Given the description of an element on the screen output the (x, y) to click on. 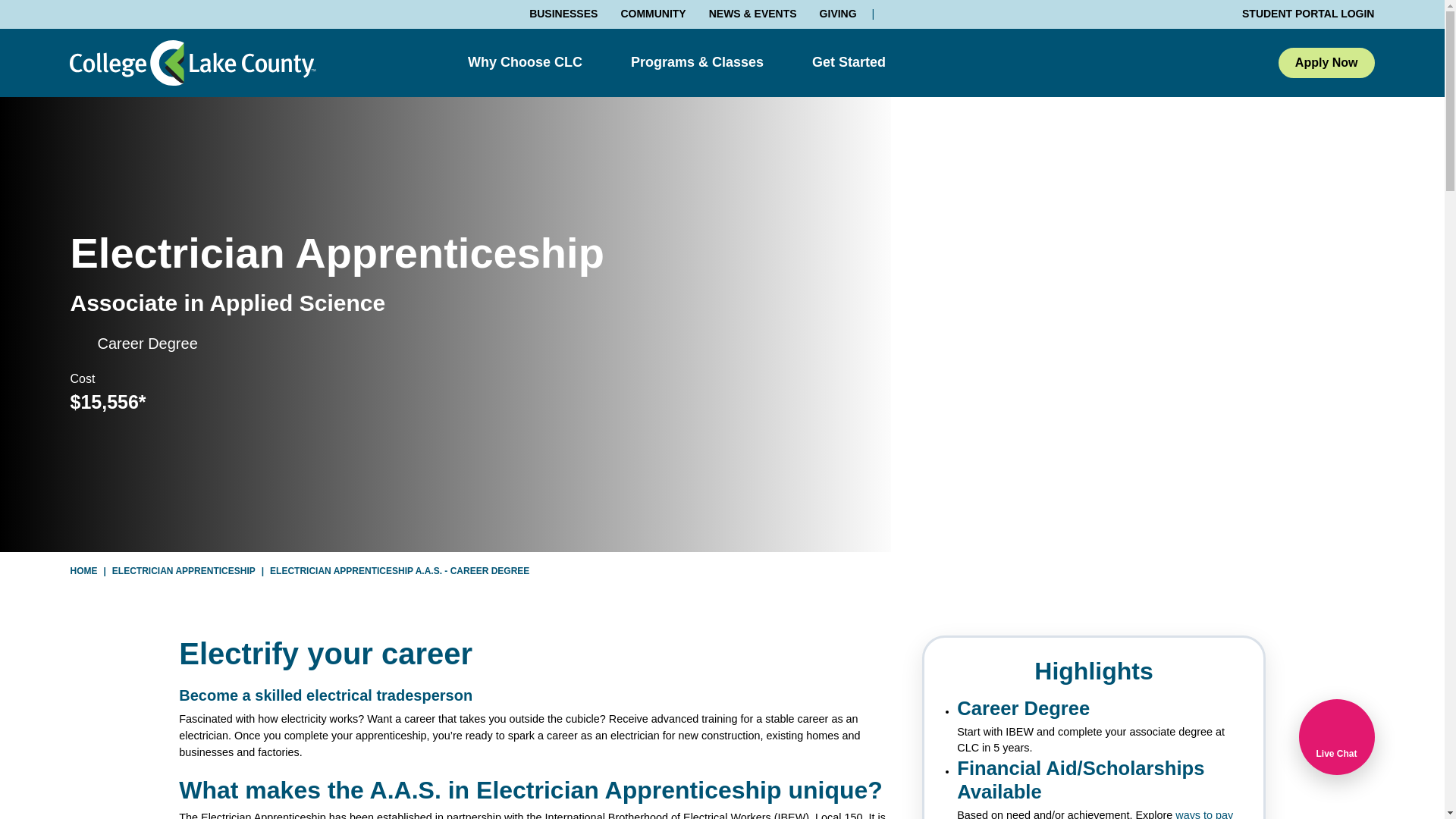
COMMUNITY (652, 13)
ELECTRICIAN APPRENTICESHIP (184, 571)
GIVING (838, 13)
Why Choose CLC (524, 62)
BUSINESSES (562, 13)
Get Started (848, 62)
ways to pay for college (1094, 814)
STUDENT PORTAL LOGIN (1300, 13)
HOME (83, 571)
Apply Now (1326, 62)
